Given the description of an element on the screen output the (x, y) to click on. 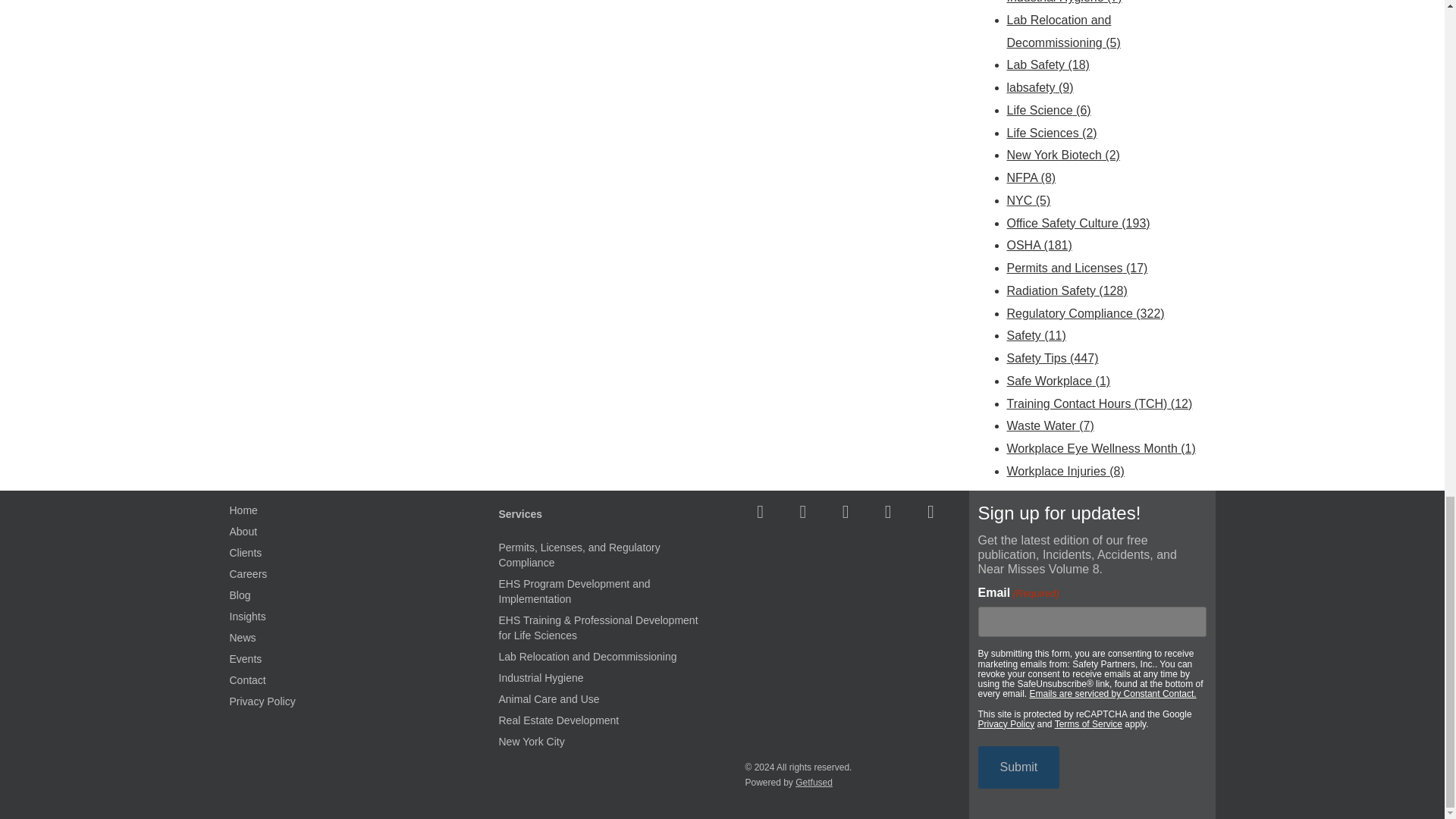
Submit (1018, 767)
